Given the description of an element on the screen output the (x, y) to click on. 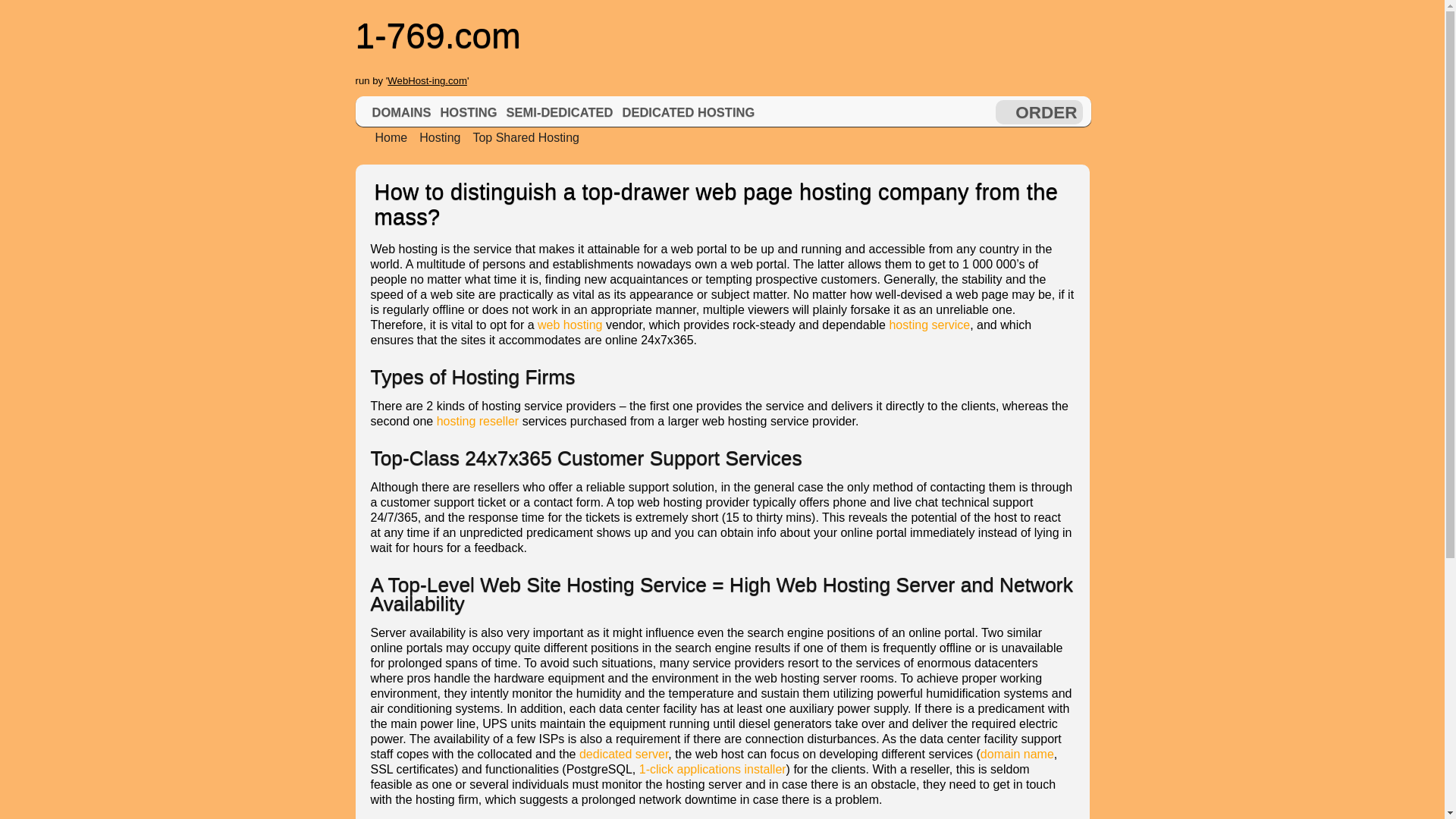
HOSTING (467, 112)
DEDICATED HOSTING (687, 112)
hosting service (928, 324)
dedicated server (623, 753)
DOMAINS (401, 112)
Home (384, 137)
WebHost-ing.com (427, 80)
ORDER (1045, 112)
1-click applications installer (712, 768)
hosting reseller (477, 420)
